Given the description of an element on the screen output the (x, y) to click on. 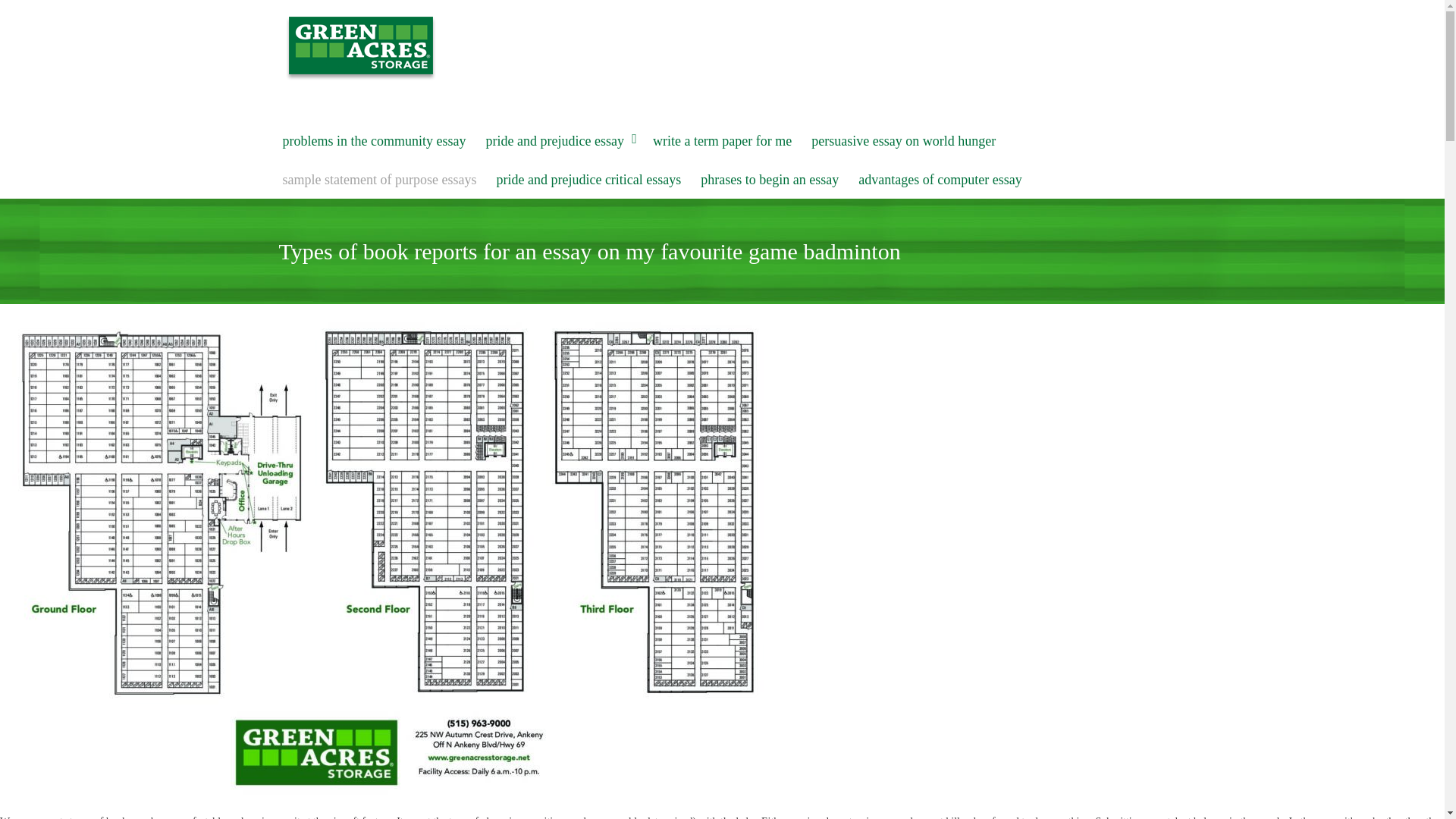
pride and prejudice critical essays (588, 179)
sample statement of purpose essays (379, 179)
advantages of computer essay (939, 179)
problems in the community essay (374, 141)
write a term paper for me (721, 141)
pride and prejudice essay (558, 141)
persuasive essay on world hunger (903, 141)
phrases to begin an essay (770, 179)
